Given the description of an element on the screen output the (x, y) to click on. 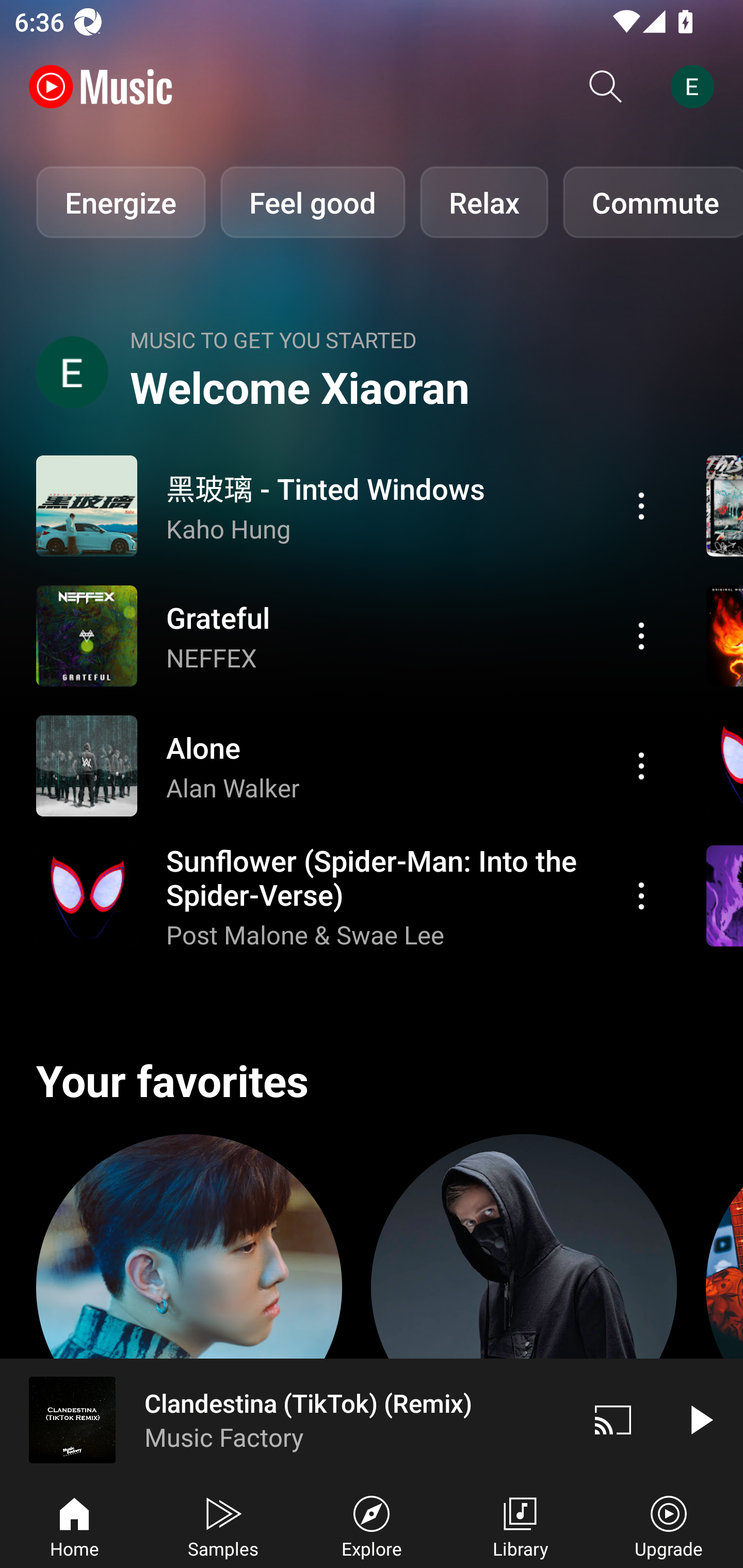
Search (605, 86)
Account (696, 86)
Action menu (349, 505)
Action menu (641, 505)
Action menu (349, 635)
Action menu (641, 635)
Action menu (349, 765)
Action menu (641, 765)
Action menu (349, 896)
Action menu (641, 896)
Clandestina (TikTok) (Remix) Music Factory (284, 1419)
Cast. Disconnected (612, 1419)
Play video (699, 1419)
Home (74, 1524)
Samples (222, 1524)
Explore (371, 1524)
Library (519, 1524)
Upgrade (668, 1524)
